Given the description of an element on the screen output the (x, y) to click on. 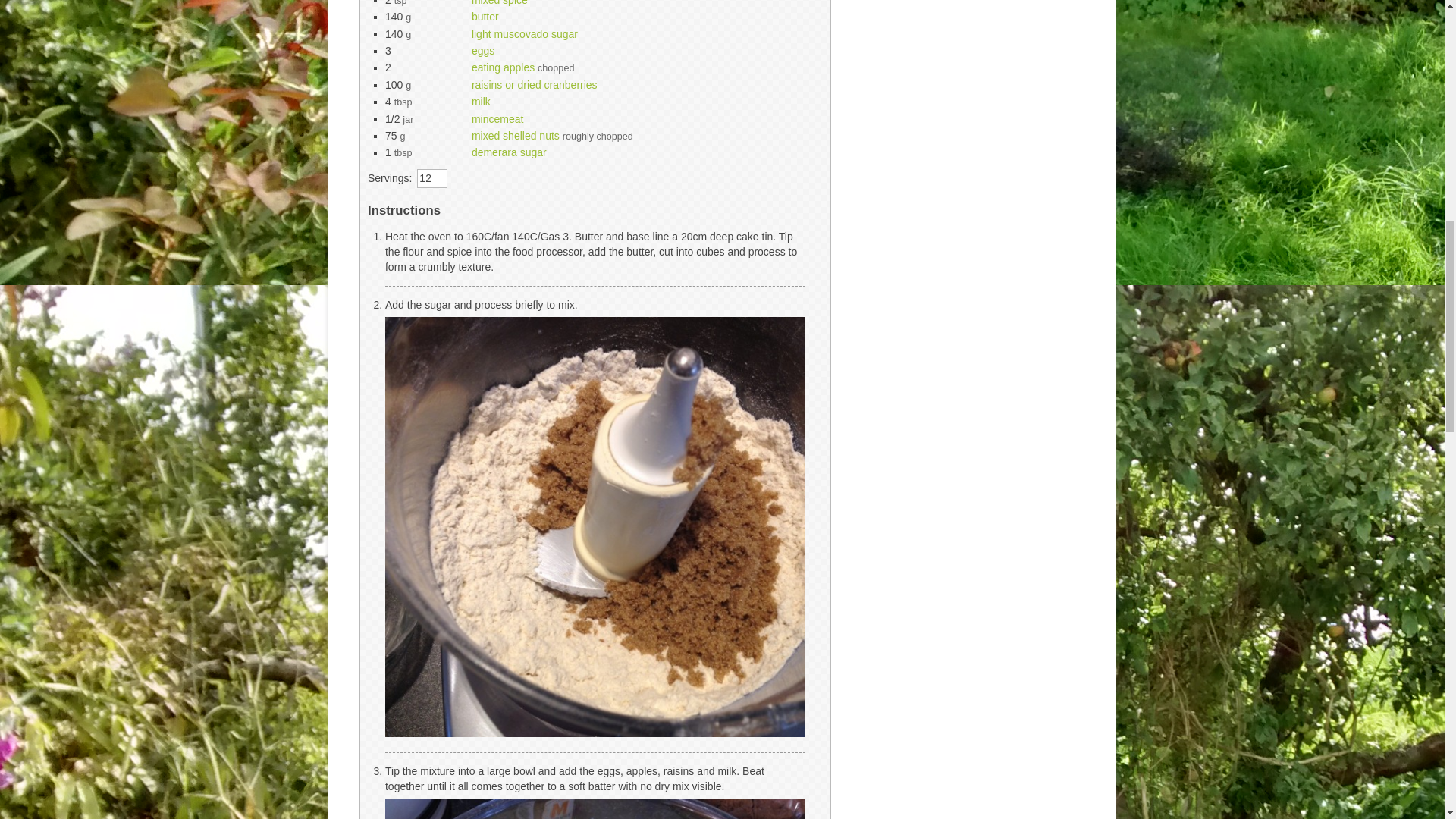
mixed shelled nuts (515, 135)
light muscovado sugar (524, 33)
milk (480, 101)
eating apples (502, 67)
12 (431, 178)
mixed spice (499, 2)
butter (485, 16)
demerara sugar (509, 152)
mincemeat (496, 119)
eggs (483, 50)
raisins or dried cranberries (533, 84)
